Given the description of an element on the screen output the (x, y) to click on. 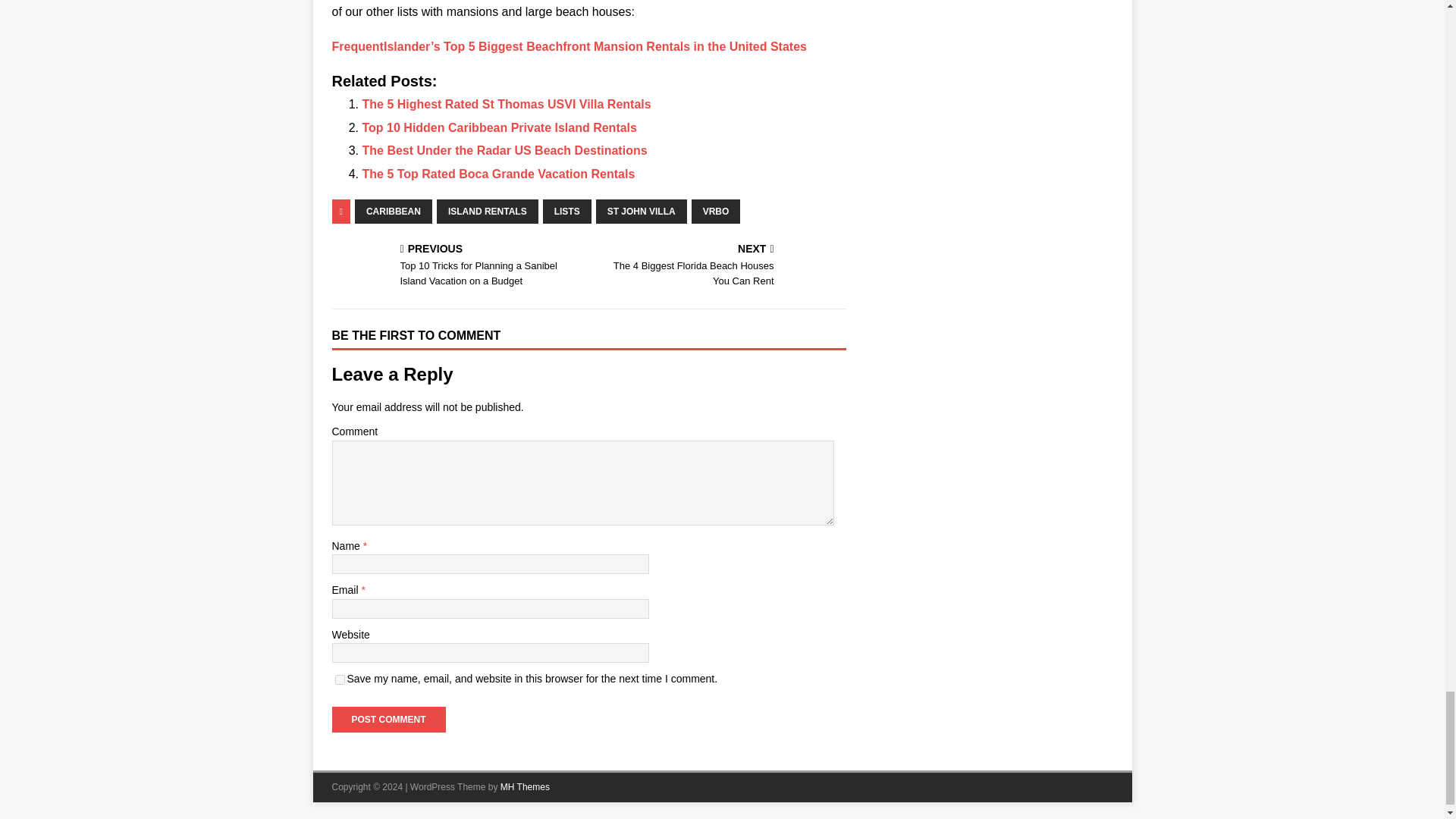
The 5 Highest Rated St Thomas USVI Villa Rentals (506, 103)
CARIBBEAN (393, 211)
The Best Under the Radar US Beach Destinations (504, 150)
Top 10 Hidden Caribbean Private Island Rentals (499, 127)
VRBO (716, 211)
Post Comment (388, 719)
ST JOHN VILLA (641, 211)
Post Comment (388, 719)
The 5 Top Rated Boca Grande Vacation Rentals (498, 173)
yes (339, 679)
The 5 Top Rated Boca Grande Vacation Rentals (498, 173)
ISLAND RENTALS (487, 211)
The Best Under the Radar US Beach Destinations (504, 150)
Top 10 Hidden Caribbean Private Island Rentals (499, 127)
The 5 Highest Rated St Thomas USVI Villa Rentals (506, 103)
